Given the description of an element on the screen output the (x, y) to click on. 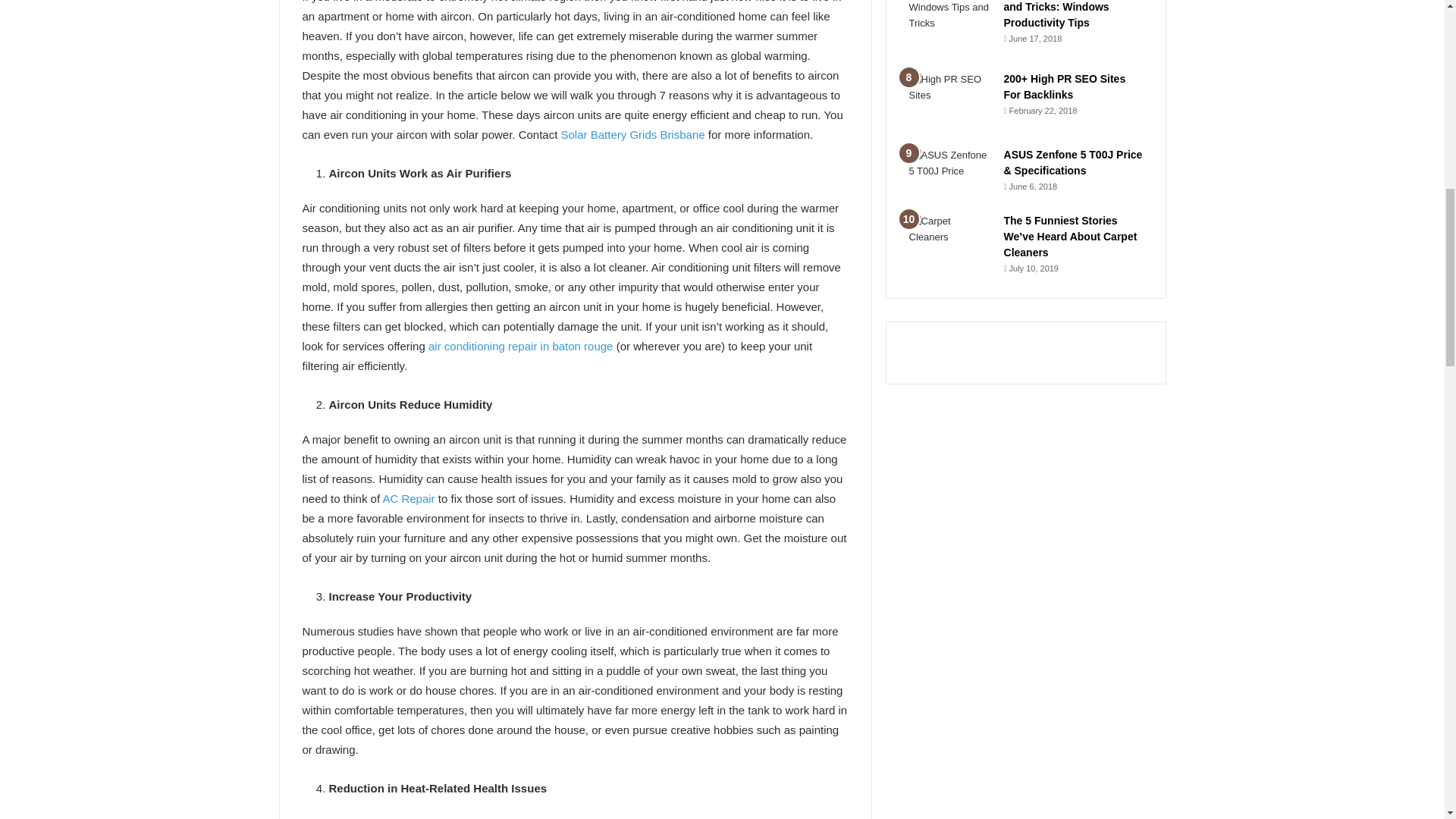
Solar Battery Grids Brisbane (632, 133)
AC Repair (407, 498)
air conditioning repair in baton rouge (520, 345)
